Given the description of an element on the screen output the (x, y) to click on. 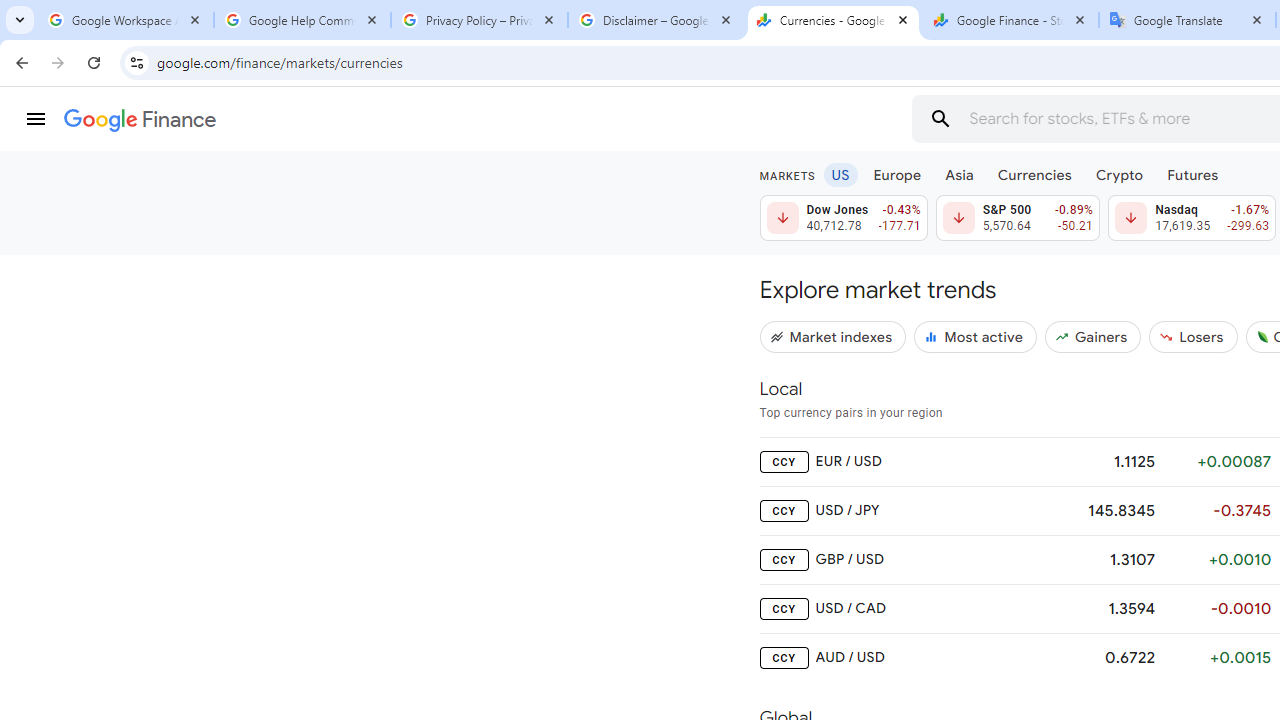
Nasdaq 17,619.35 Down by 1.67% -299.63 (1192, 218)
S&P 500 5,570.64 Down by 0.89% -50.21 (1017, 218)
Crypto (1119, 174)
GLeaf logo (1261, 336)
Europe (897, 174)
Gainers (1092, 336)
US (840, 174)
Futures (1192, 174)
